Given the description of an element on the screen output the (x, y) to click on. 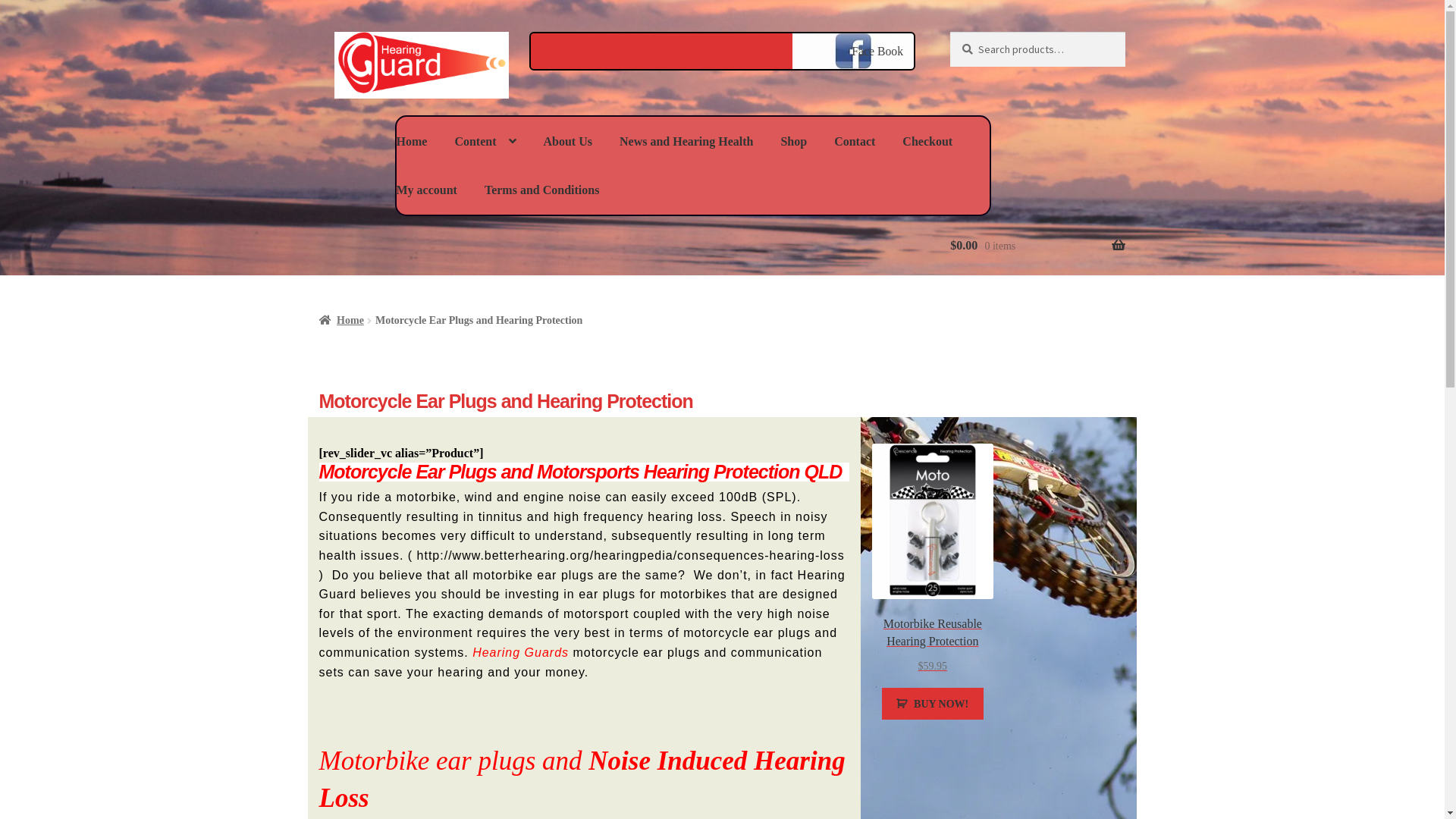
Motorbike Reusable Hearing Protection
$59.95 Element type: text (932, 559)
BUY NOW! Element type: text (932, 703)
Checkout Element type: text (927, 141)
About Us Element type: text (566, 141)
Home Element type: text (411, 141)
News and Hearing Health Element type: text (686, 141)
Skip to navigation Element type: text (318, 31)
Content Element type: text (484, 141)
$0.00 0 items Element type: text (1037, 245)
Home Element type: text (341, 320)
Contact Element type: text (854, 141)
Face Book Element type: text (877, 51)
Search Element type: text (949, 31)
Shop Element type: text (793, 141)
My account Element type: text (426, 190)
Terms and Conditions Element type: text (541, 190)
